Given the description of an element on the screen output the (x, y) to click on. 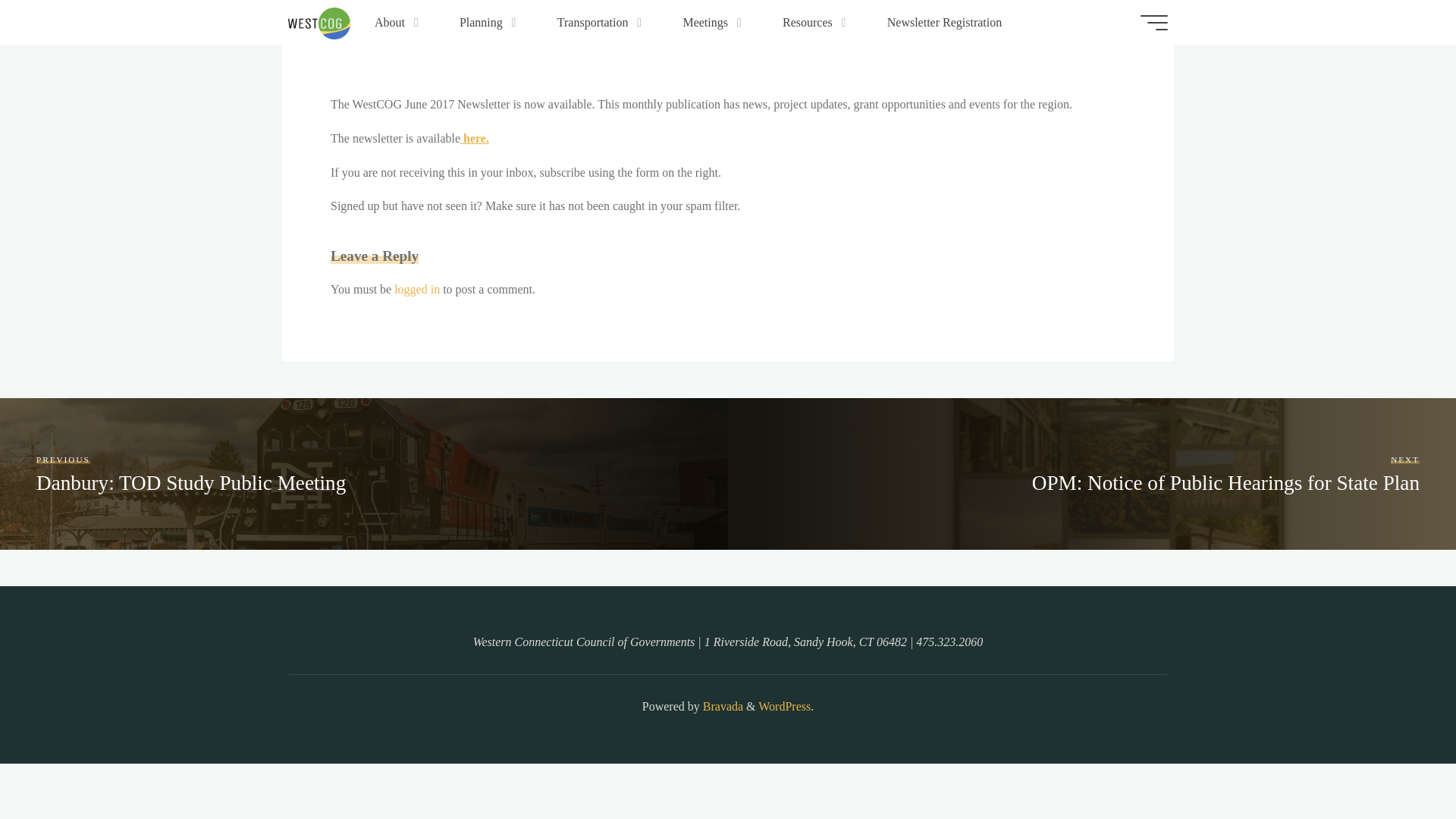
Western Connecticut Council of Governments (319, 21)
Bravada WordPress Theme by Cryout Creations (721, 706)
Semantic Personal Publishing Platform (784, 706)
